Given the description of an element on the screen output the (x, y) to click on. 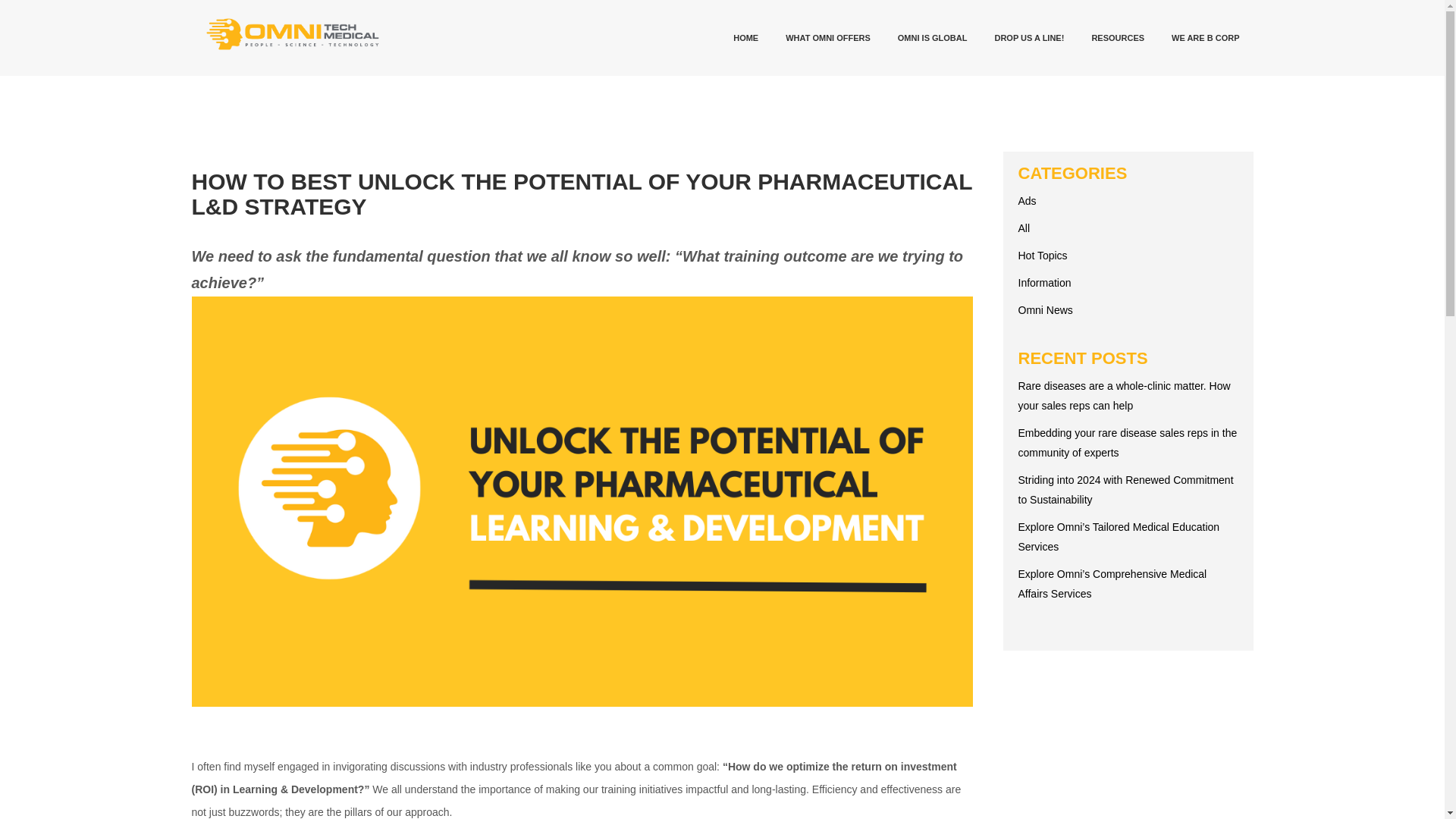
Hot Topics (1042, 255)
Omni News (1044, 309)
RESOURCES (1117, 38)
All (1023, 227)
WHAT OMNI OFFERS (827, 38)
Ads (1026, 200)
DROP US A LINE! (1028, 38)
OMNI IS GLOBAL (932, 38)
HOME (745, 38)
WE ARE B CORP (1204, 38)
Striding into 2024 with Renewed Commitment to Sustainability (1125, 490)
Information (1043, 282)
